Given the description of an element on the screen output the (x, y) to click on. 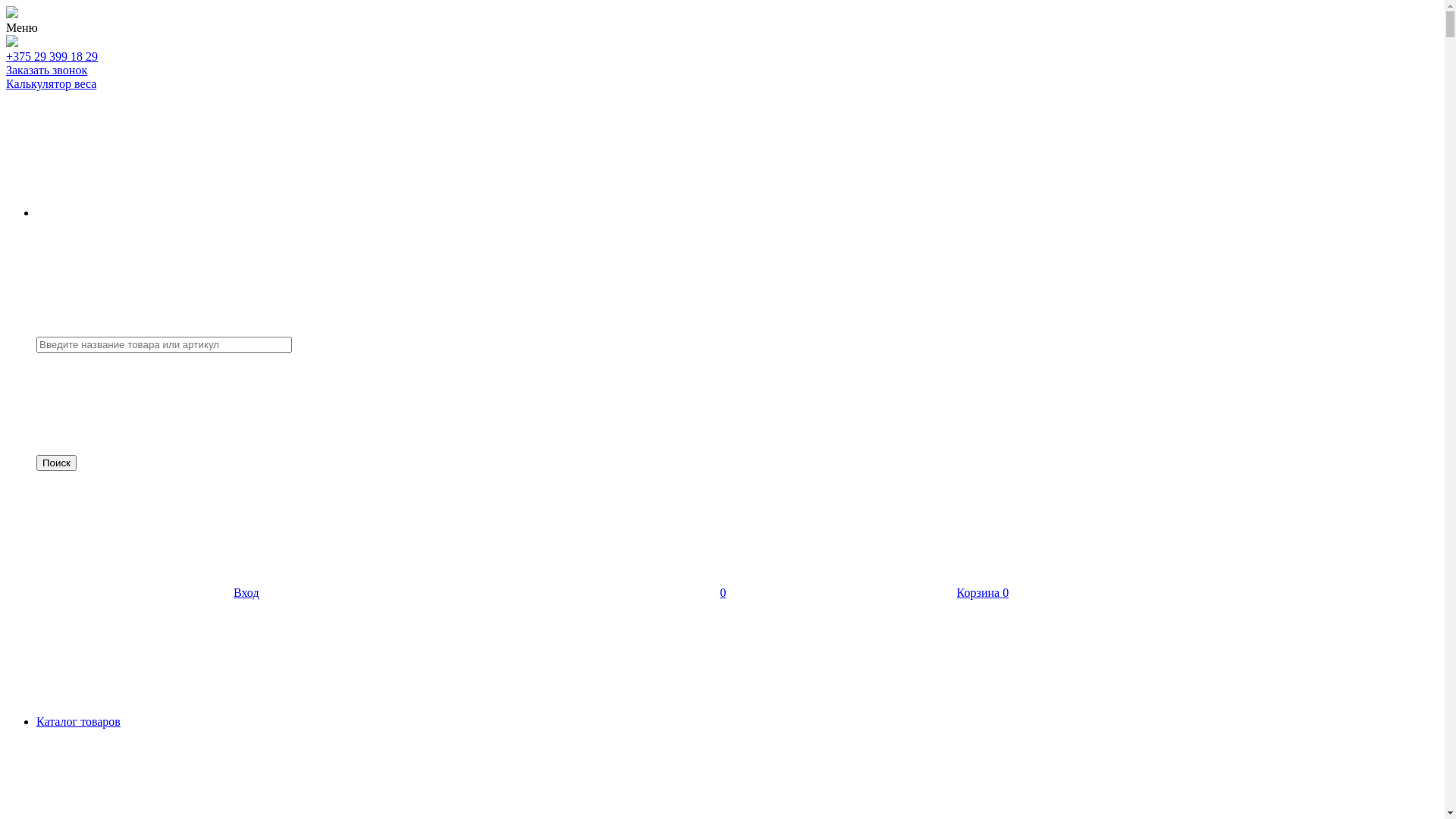
+375 29 399 18 29 Element type: text (51, 56)
0 Element type: text (609, 592)
